Given the description of an element on the screen output the (x, y) to click on. 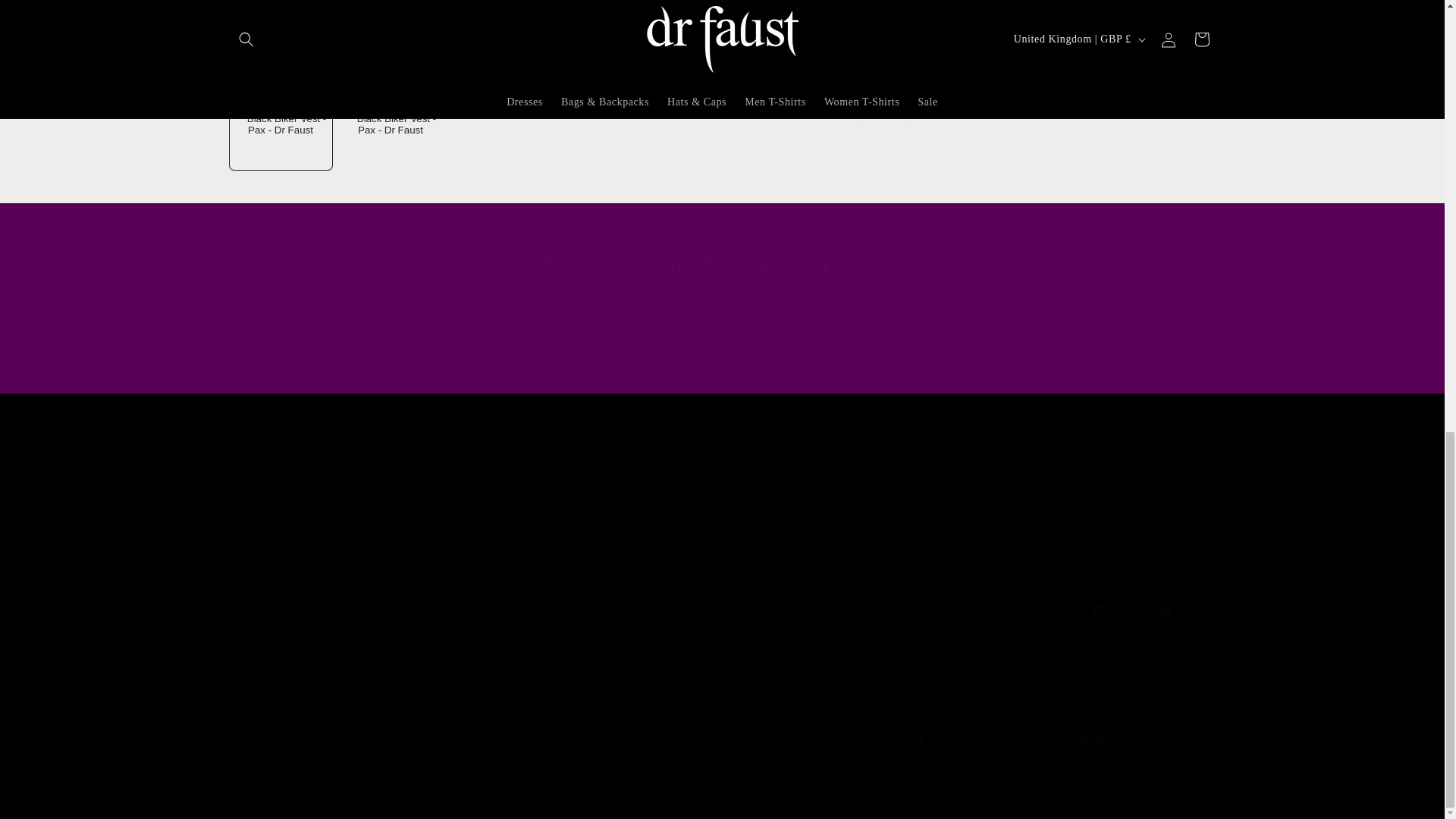
Email (722, 357)
Subscribe to our emails (971, 517)
